Given the description of an element on the screen output the (x, y) to click on. 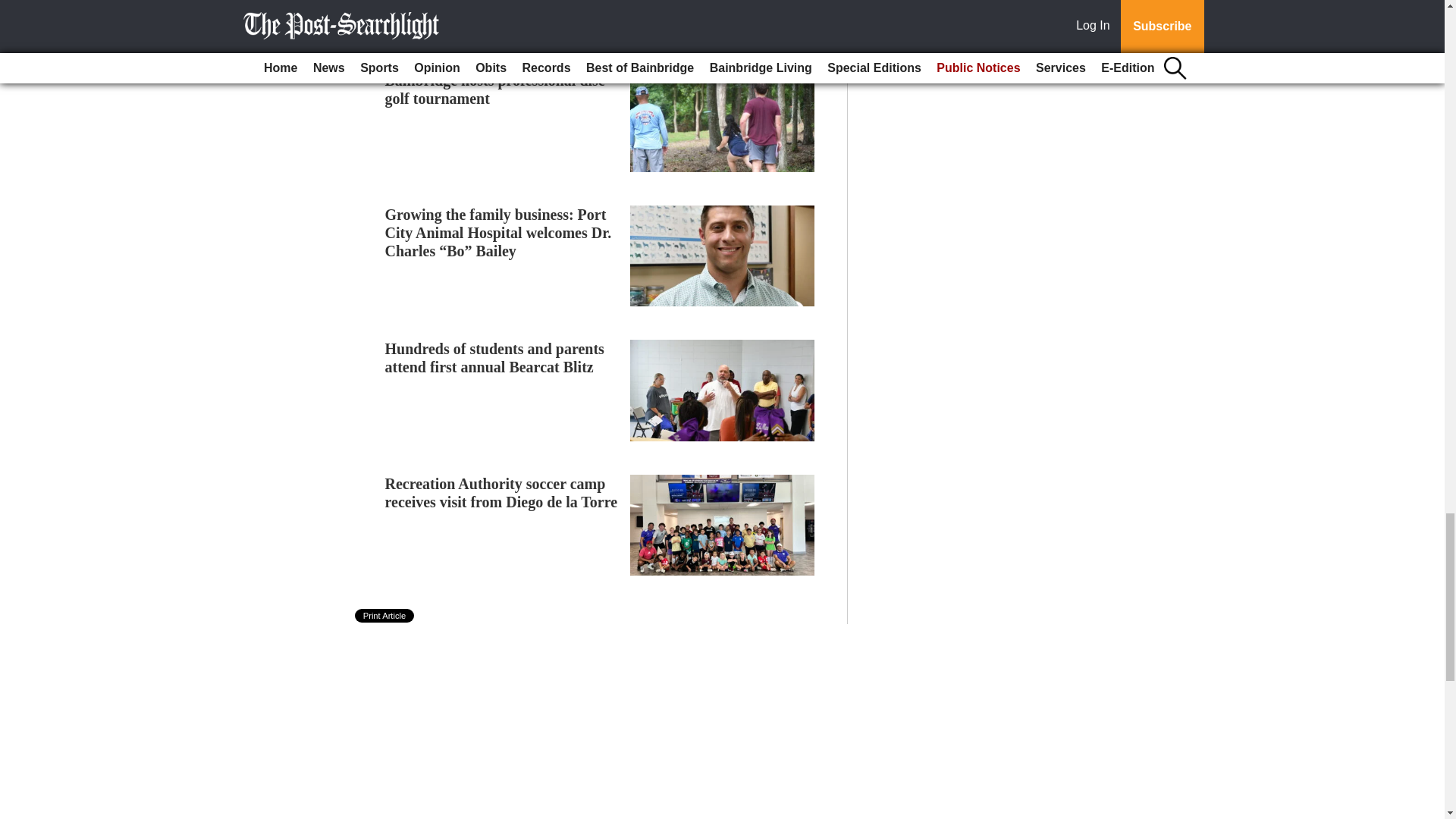
Bainbridge hosts professional disc golf tournament (495, 89)
Bainbridge hosts professional disc golf tournament (495, 89)
